Given the description of an element on the screen output the (x, y) to click on. 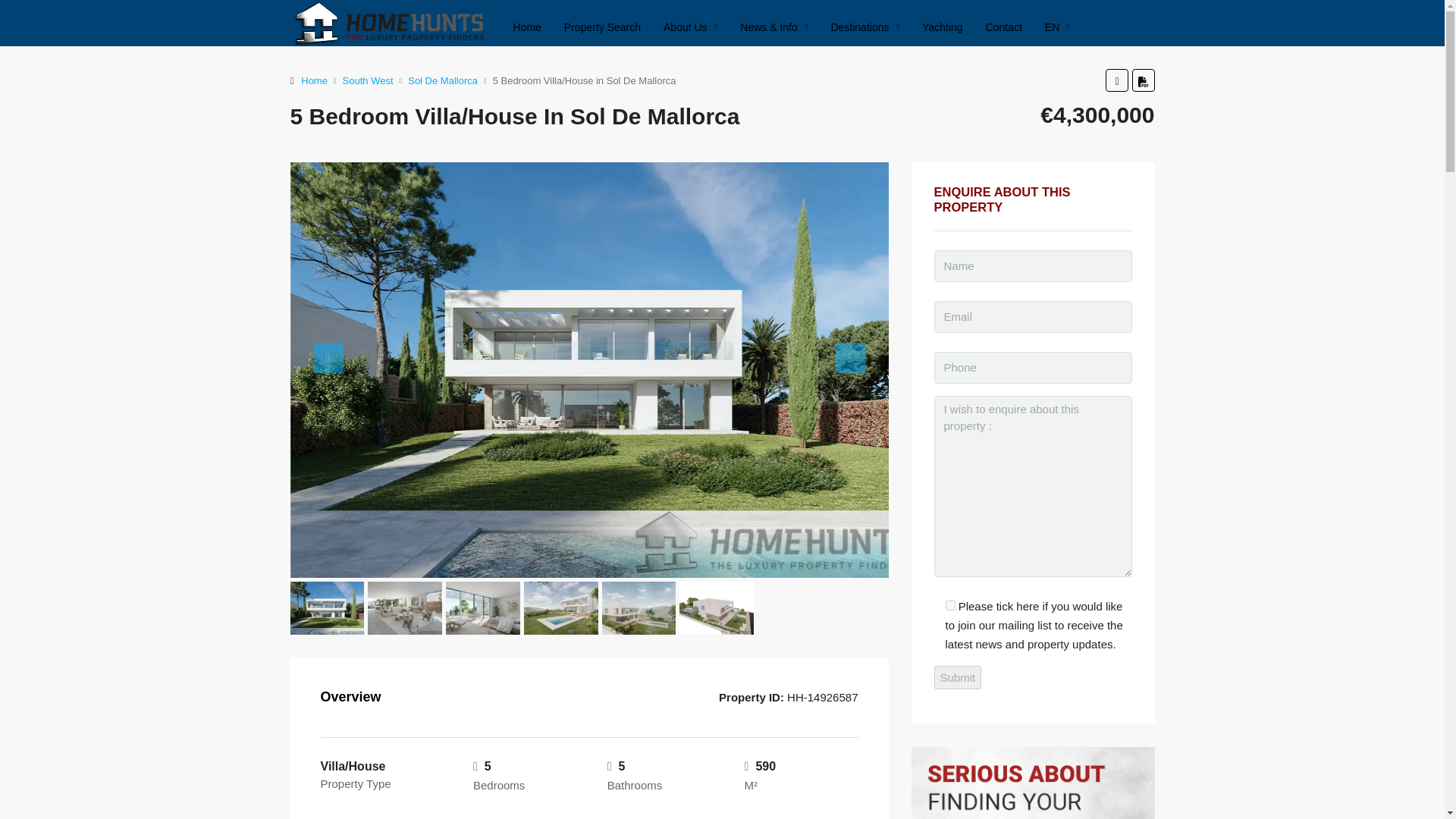
Submit (957, 677)
